Given the description of an element on the screen output the (x, y) to click on. 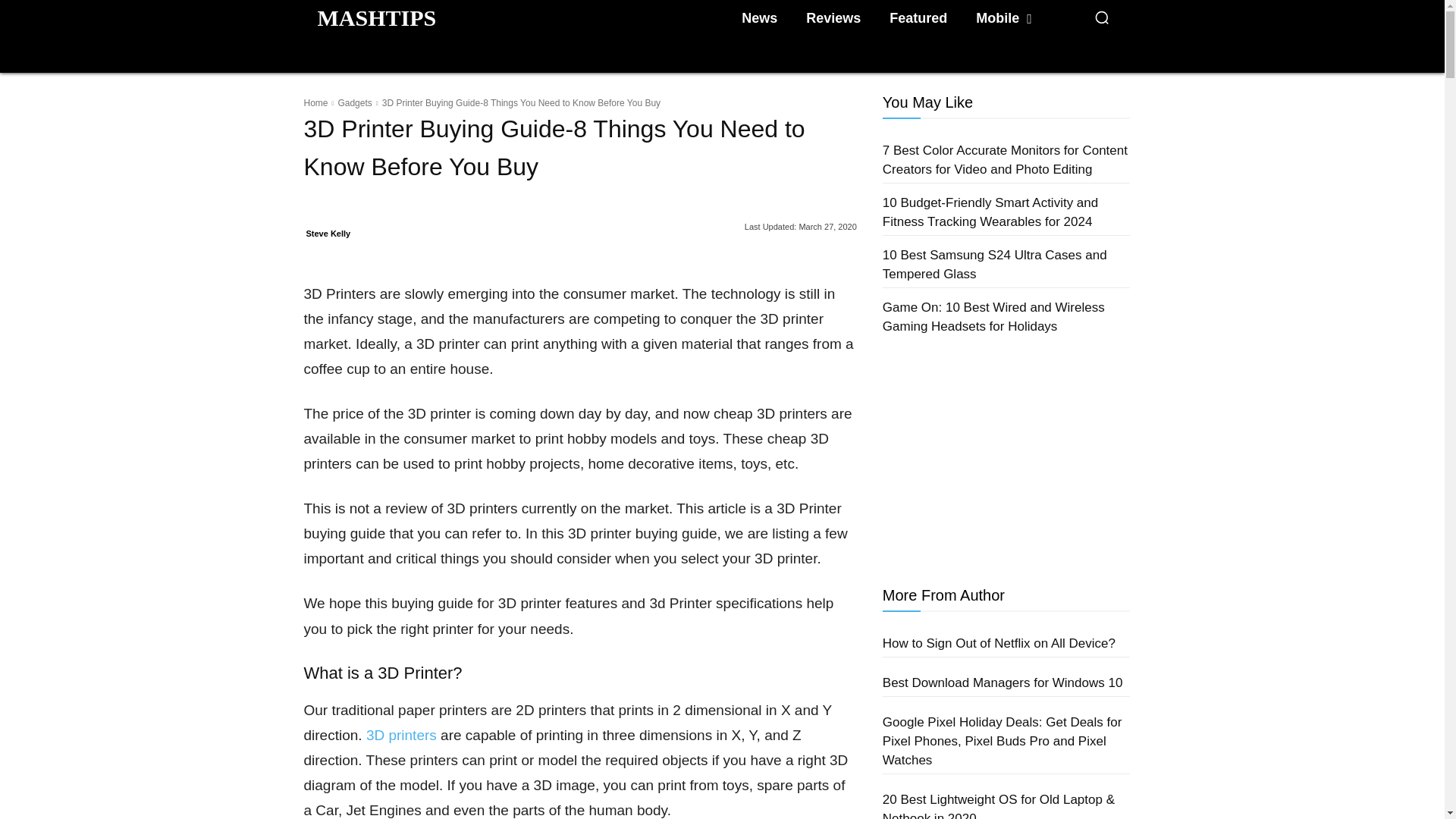
Mobile (1003, 18)
MASHTIPS (376, 17)
Reviews (832, 18)
News (758, 18)
Gadgets (354, 102)
Featured (918, 18)
3D printers (401, 734)
Steve Kelly (327, 232)
Home (314, 102)
View all posts in Gadgets (354, 102)
